Given the description of an element on the screen output the (x, y) to click on. 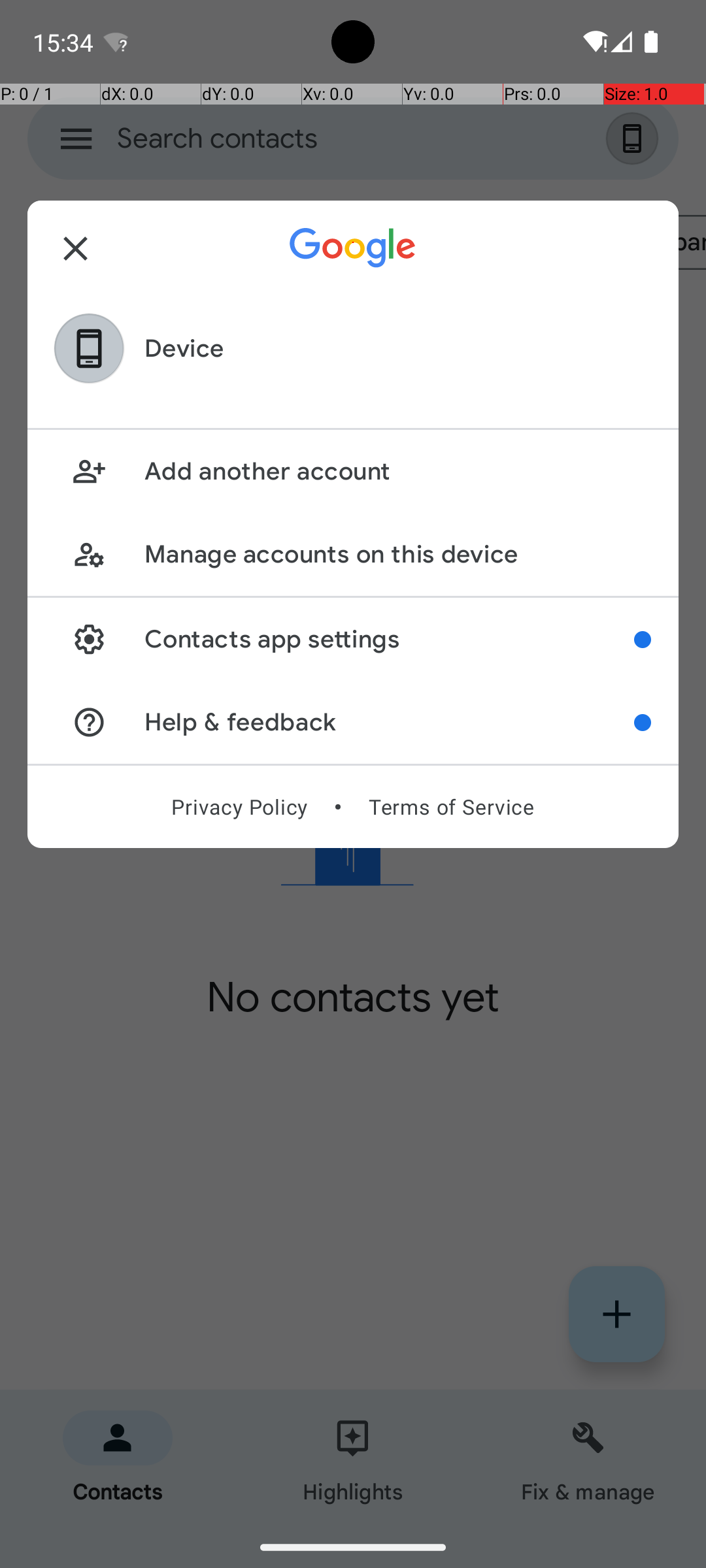
Add another account Element type: android.widget.TextView (397, 471)
Manage accounts on this device Element type: android.widget.TextView (397, 554)
Contacts app settings Element type: android.widget.TextView (389, 638)
